Given the description of an element on the screen output the (x, y) to click on. 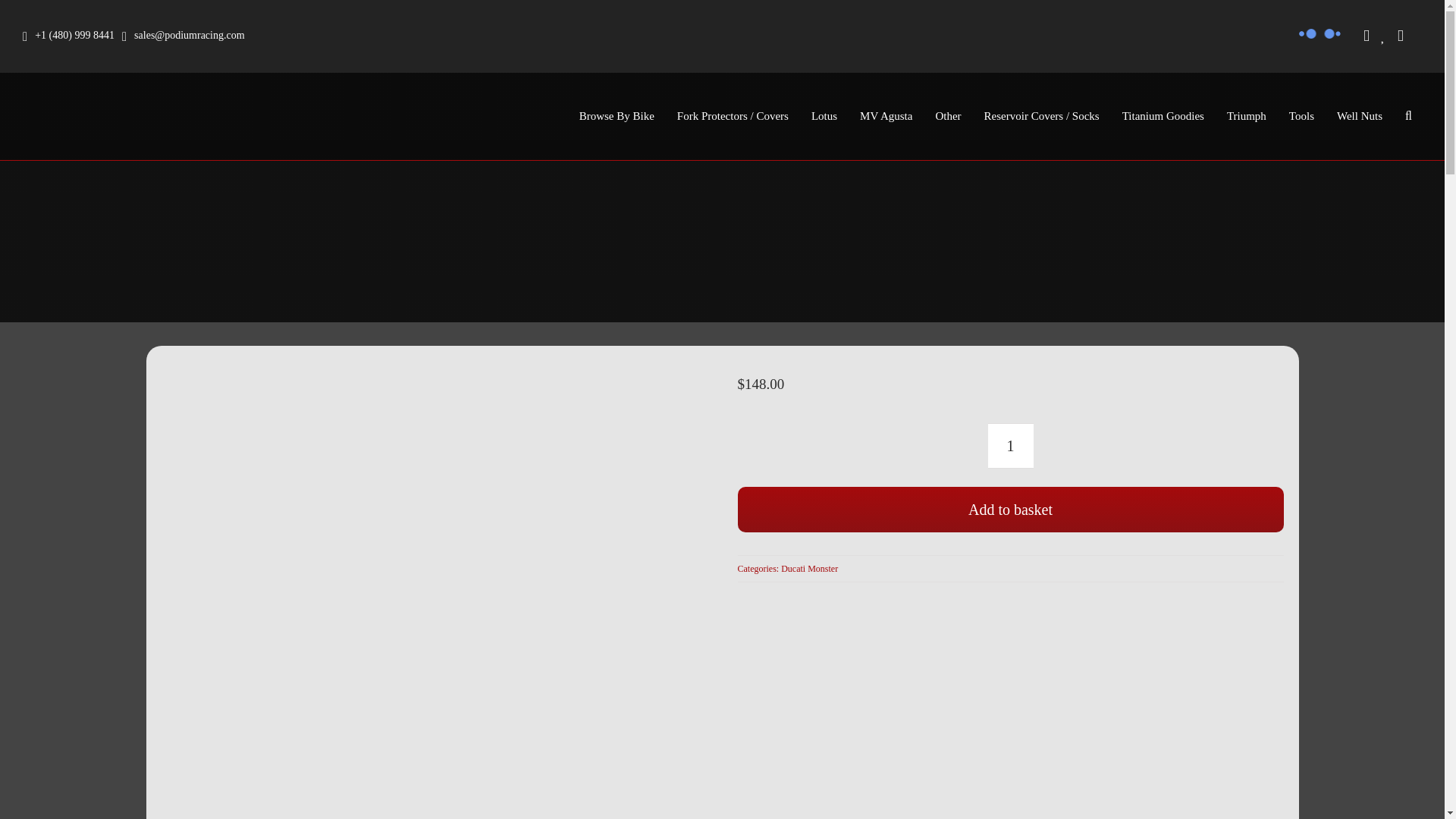
Browse By Bike (616, 115)
Search (1407, 115)
1 (1009, 445)
